Given the description of an element on the screen output the (x, y) to click on. 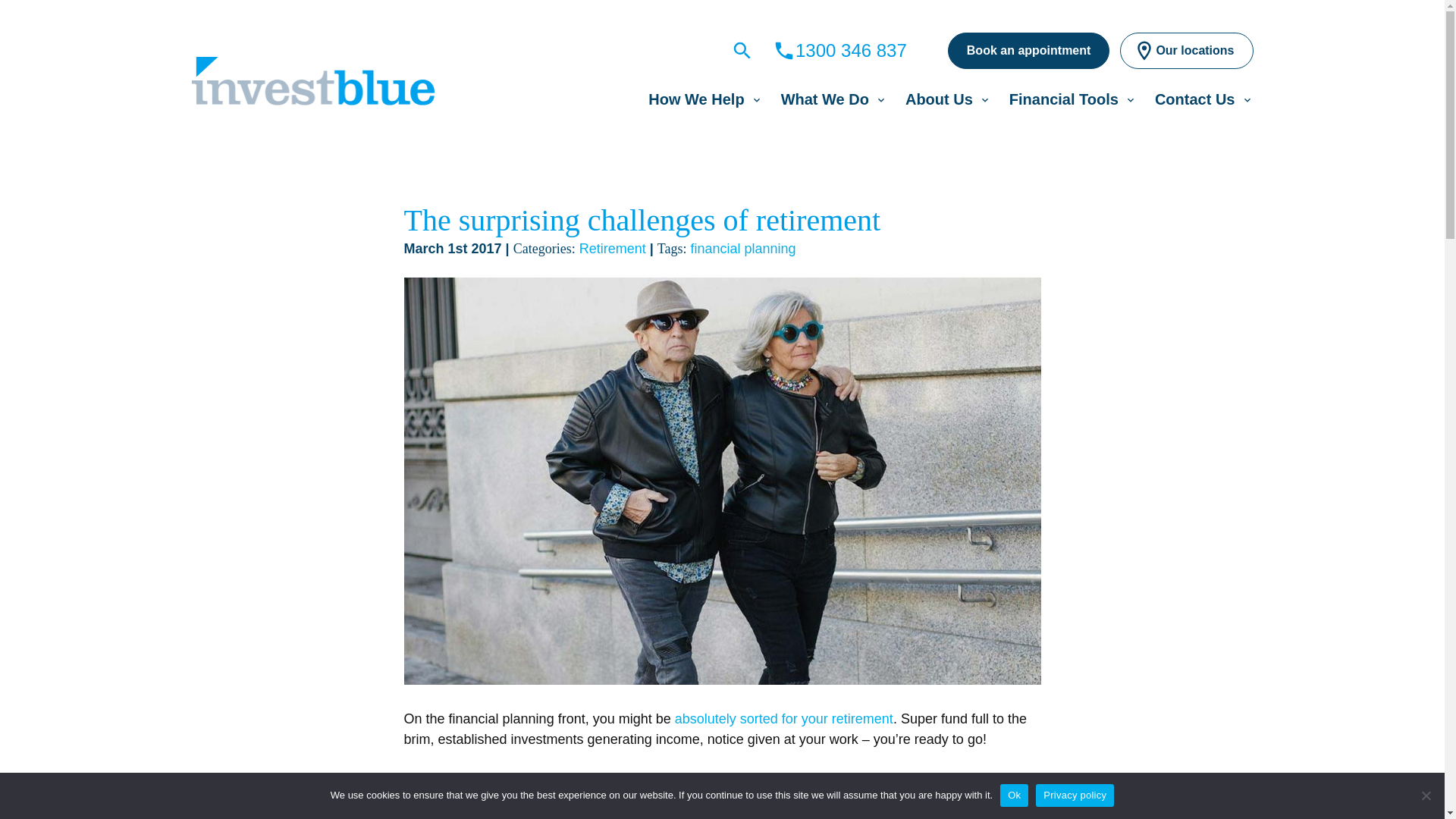
Book an appointment (1028, 50)
Our locations (1185, 50)
How We Help (695, 98)
About Us (938, 98)
What We Do (824, 98)
Contact Us (1194, 98)
1300 346 837 (840, 50)
No (1425, 795)
Financial Tools (1063, 98)
